Given the description of an element on the screen output the (x, y) to click on. 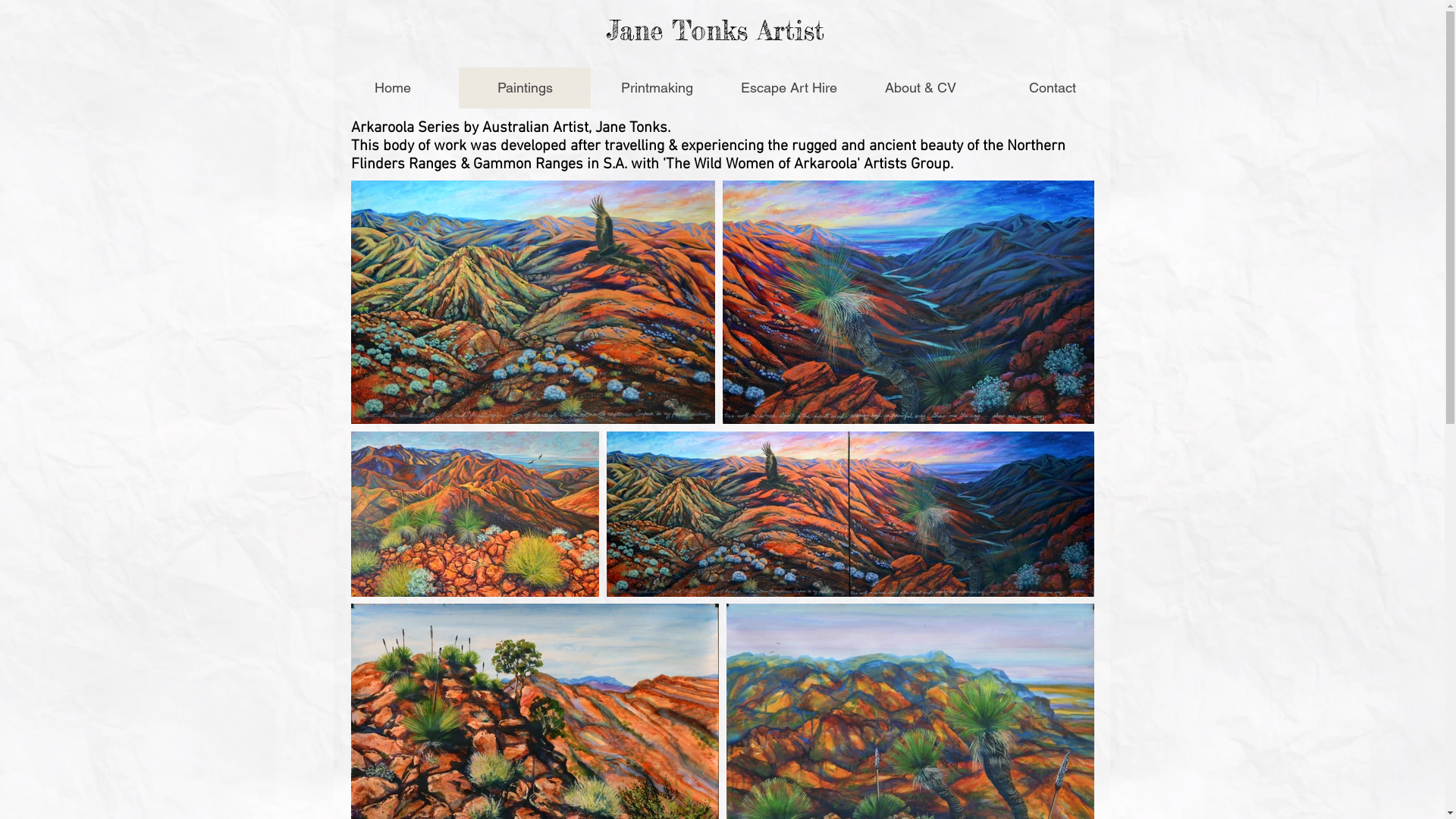
About & CV Element type: text (919, 87)
Home Element type: text (392, 87)
Paintings Element type: text (523, 87)
Contact Element type: text (1051, 87)
Escape Art Hire Element type: text (787, 87)
Printmaking Element type: text (655, 87)
